Given the description of an element on the screen output the (x, y) to click on. 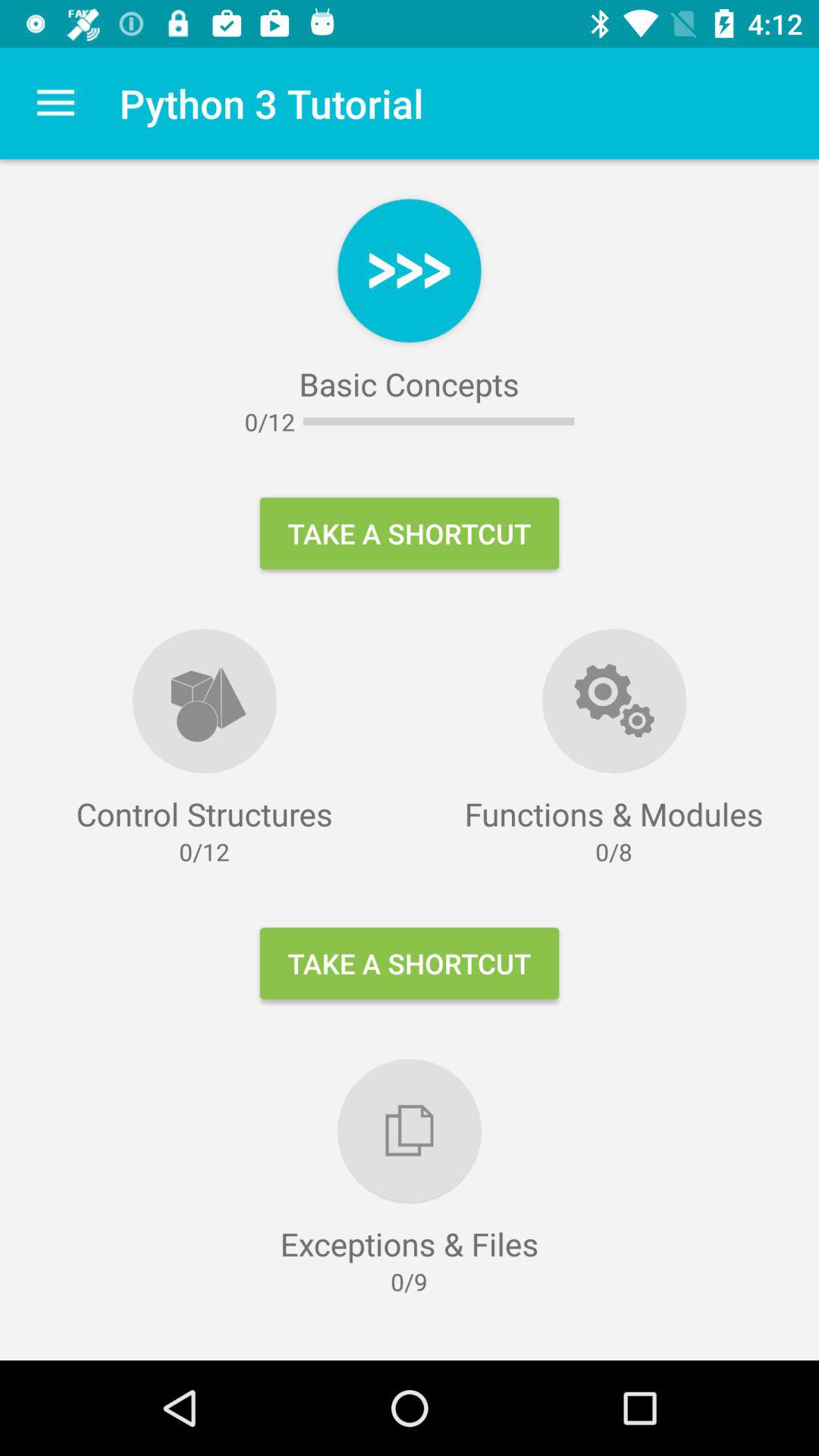
click icon above the control structures icon (55, 103)
